Given the description of an element on the screen output the (x, y) to click on. 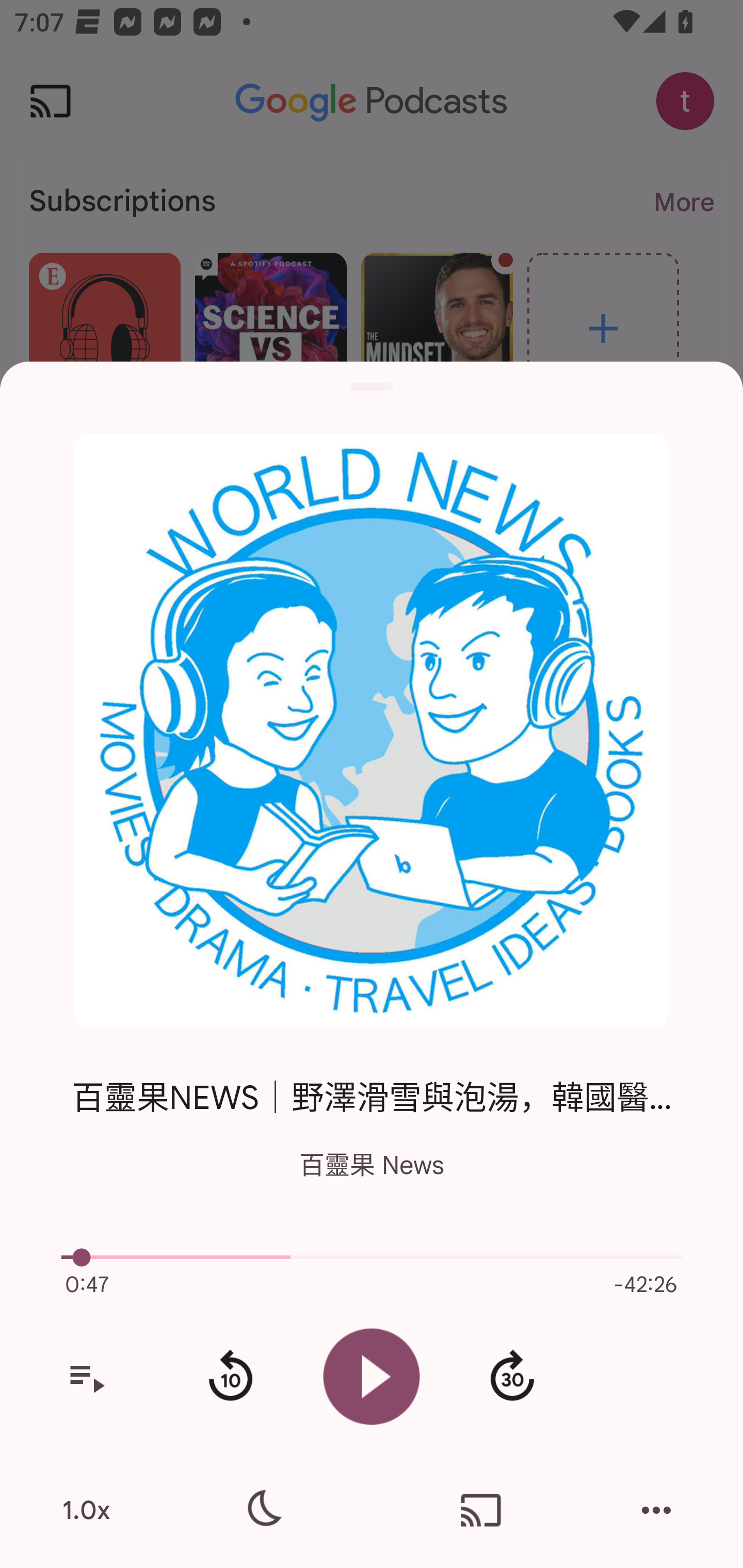
Open the show page for 百靈果 News (371, 731)
181.0 Current episode playback (371, 1257)
Play (371, 1376)
View your queue (86, 1376)
Rewind 10 seconds (230, 1376)
Fast forward 30 second (511, 1376)
1.0x Playback speed is 1.0. (86, 1510)
Sleep timer settings (261, 1510)
Cast. Disconnected (480, 1510)
More actions (655, 1510)
